Given the description of an element on the screen output the (x, y) to click on. 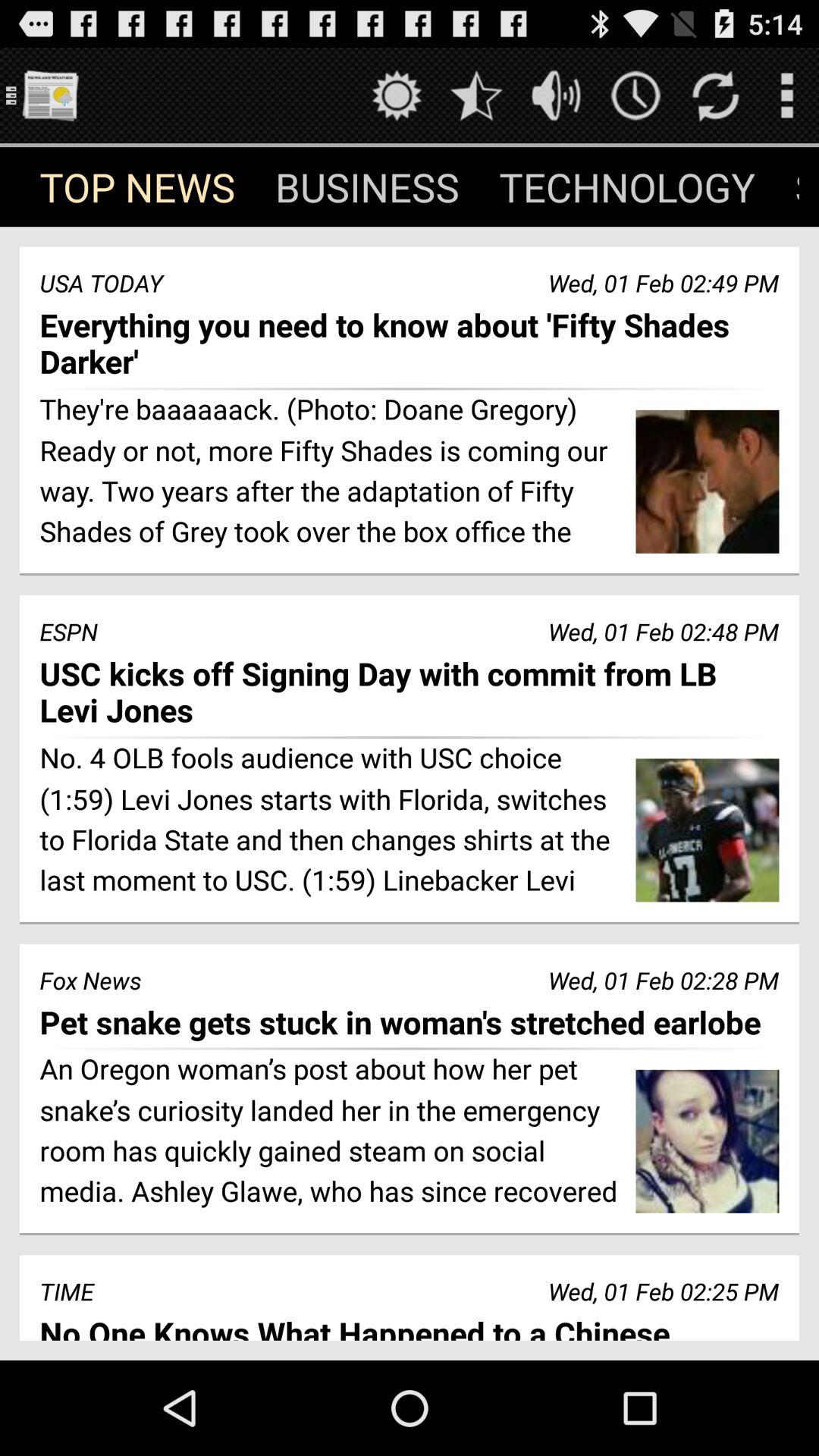
go to more options (787, 95)
